Given the description of an element on the screen output the (x, y) to click on. 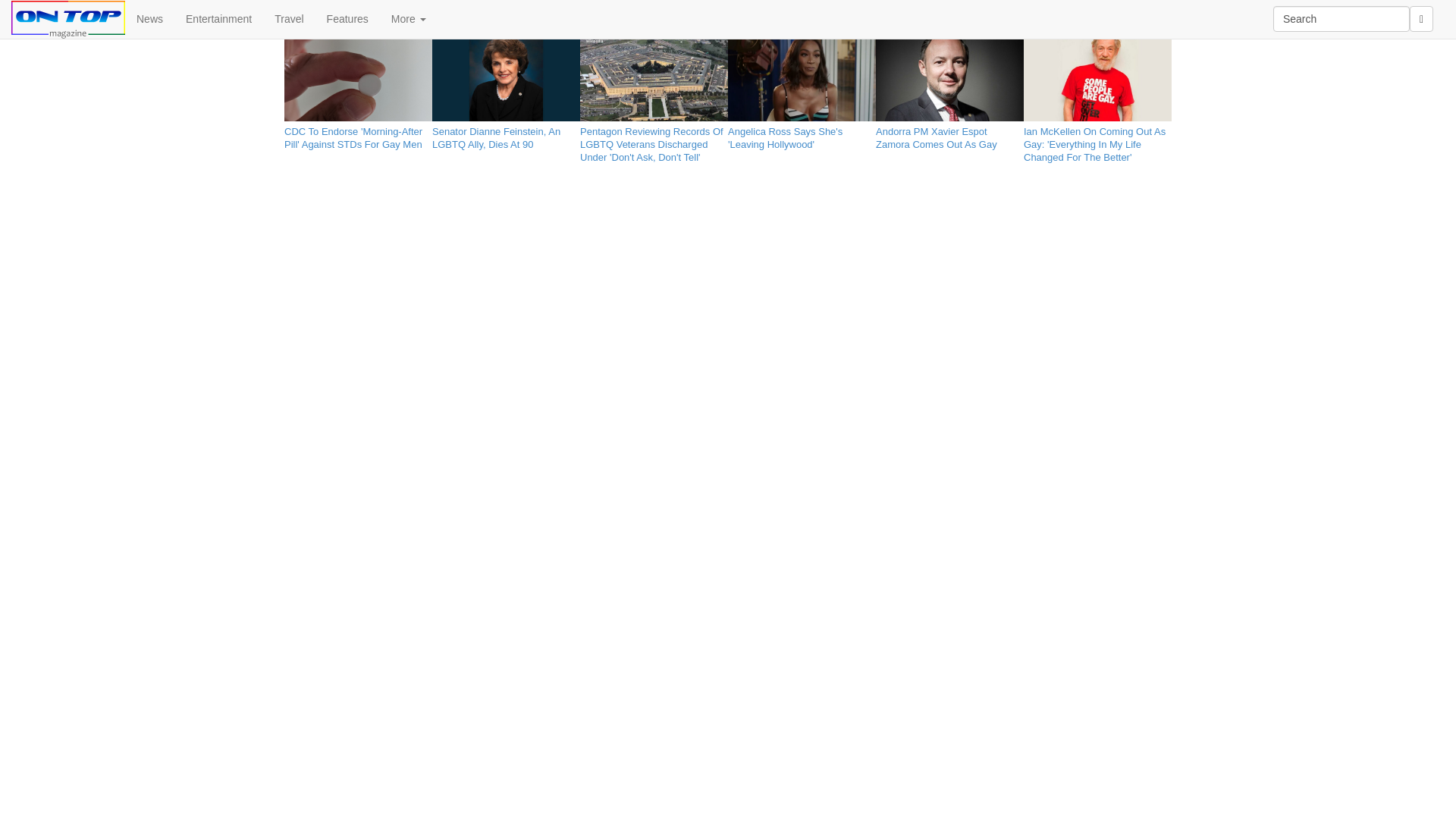
More (409, 18)
CDC To Endorse 'Morning-After Pill' Against STDs For Gay Men (357, 135)
Search by keyword (1340, 18)
Features (347, 18)
Entertainment (218, 18)
Andorra PM Xavier Espot Zamora Comes Out As Gay (949, 135)
Angelica Ross Says She's 'Leaving Hollywood' (802, 135)
Travel (288, 18)
